Given the description of an element on the screen output the (x, y) to click on. 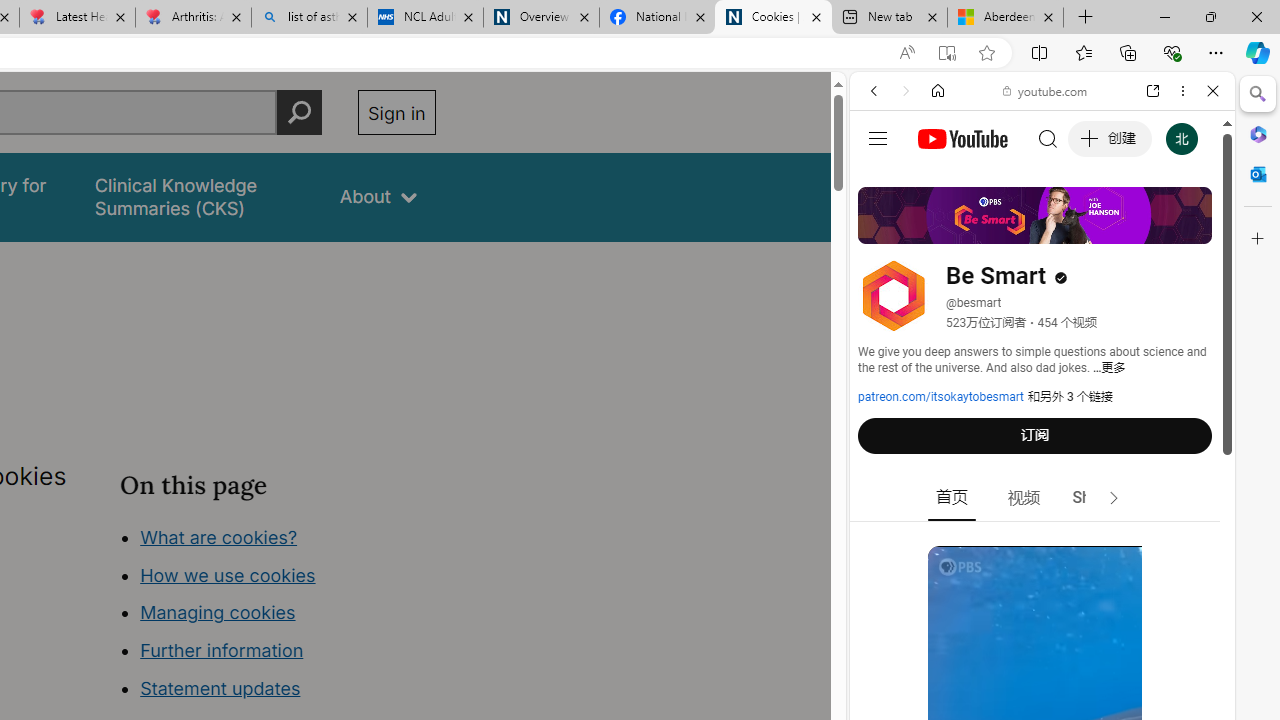
YouTube (1034, 296)
Show More Music (1164, 546)
Sign in (396, 112)
Shorts (1096, 497)
#you (1042, 445)
Search Filter, WEB (882, 228)
NCL Adult Asthma Inhaler Choice Guideline (424, 17)
Web scope (882, 180)
